Given the description of an element on the screen output the (x, y) to click on. 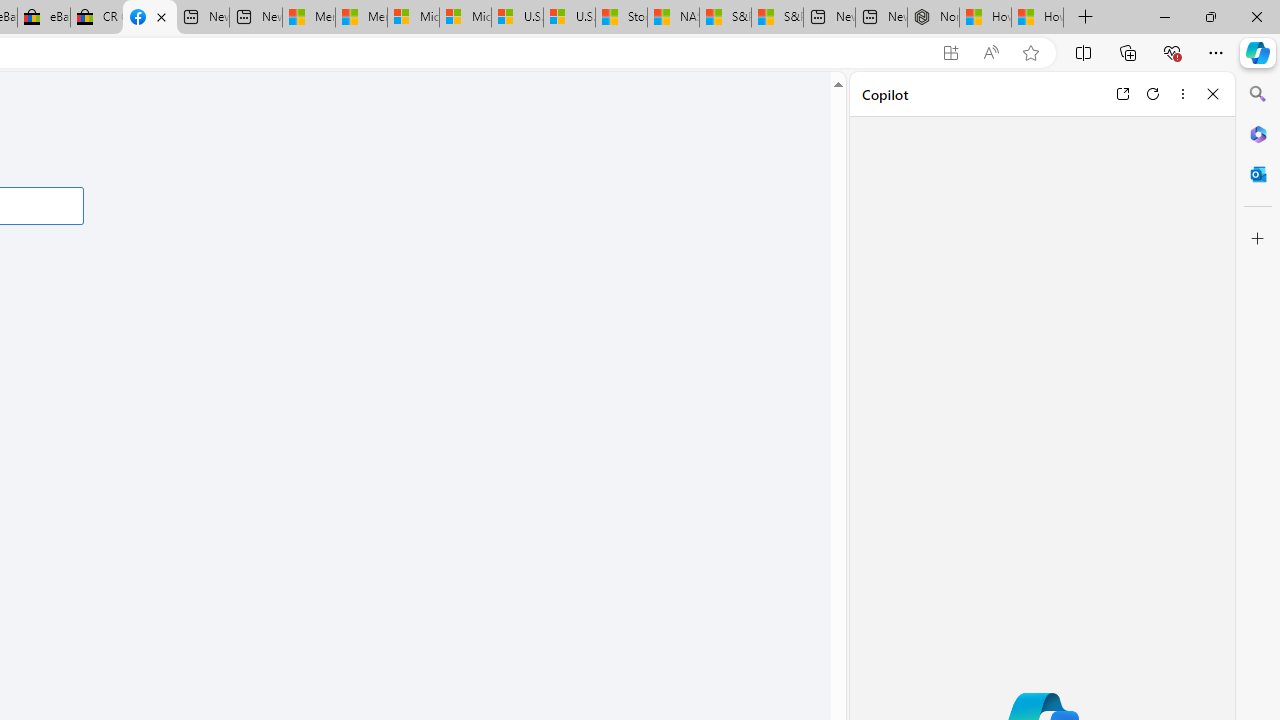
App available. Install Facebook (950, 53)
